Given the description of an element on the screen output the (x, y) to click on. 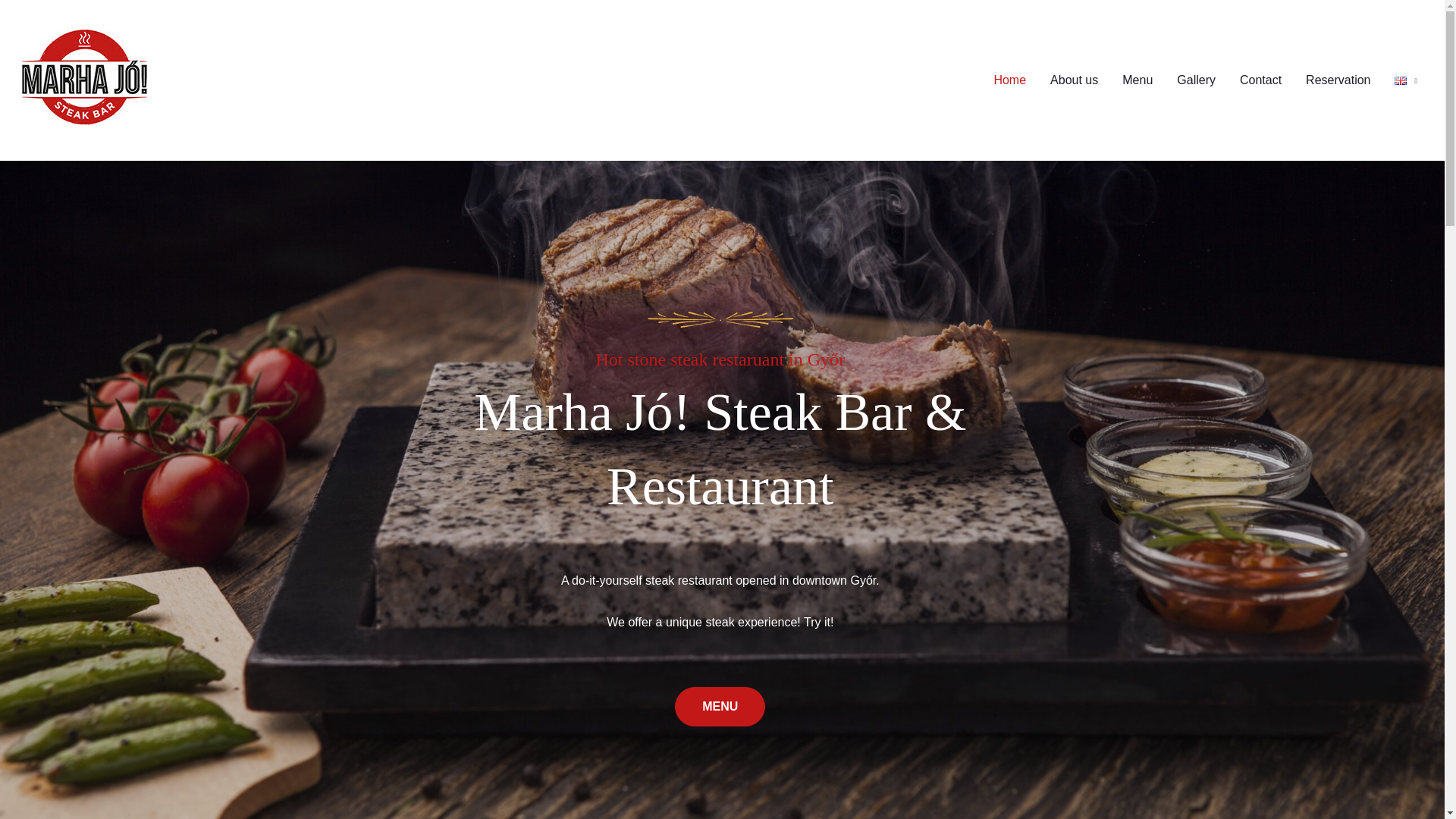
Home (1009, 80)
Gallery (1195, 80)
About us (1073, 80)
MENU (720, 706)
Reservation (1337, 80)
Menu (1136, 80)
Contact (1260, 80)
